Given the description of an element on the screen output the (x, y) to click on. 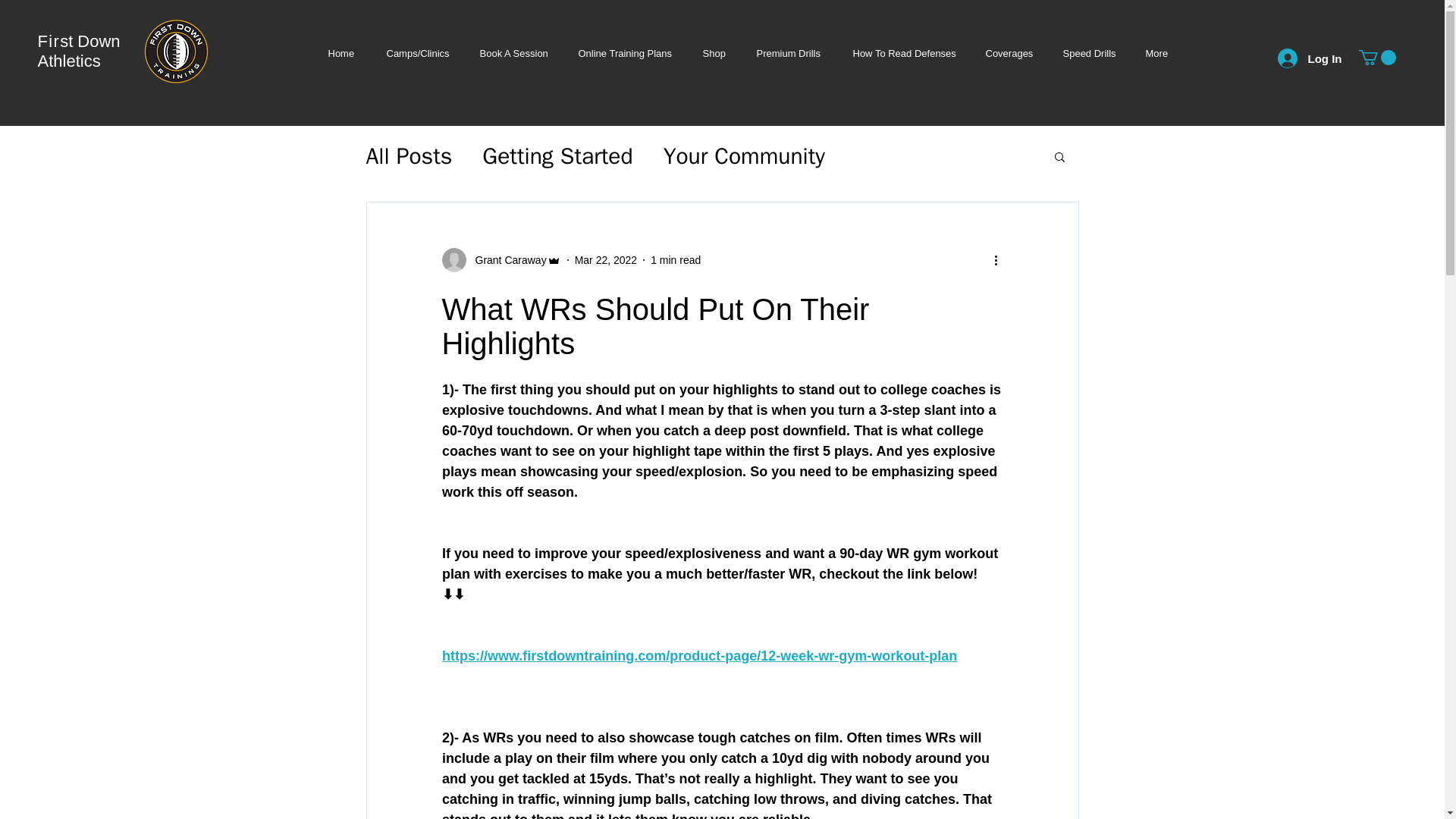
Grant Caraway (505, 259)
Mar 22, 2022 (606, 259)
Book A Session (513, 53)
Fir (49, 40)
How To Read Defenses (903, 53)
Home (342, 53)
Coverages (1009, 53)
Shop (714, 53)
Speed Drills (1089, 53)
Online Training Plans (624, 53)
Premium Drills (789, 53)
1 min read (675, 259)
